Given the description of an element on the screen output the (x, y) to click on. 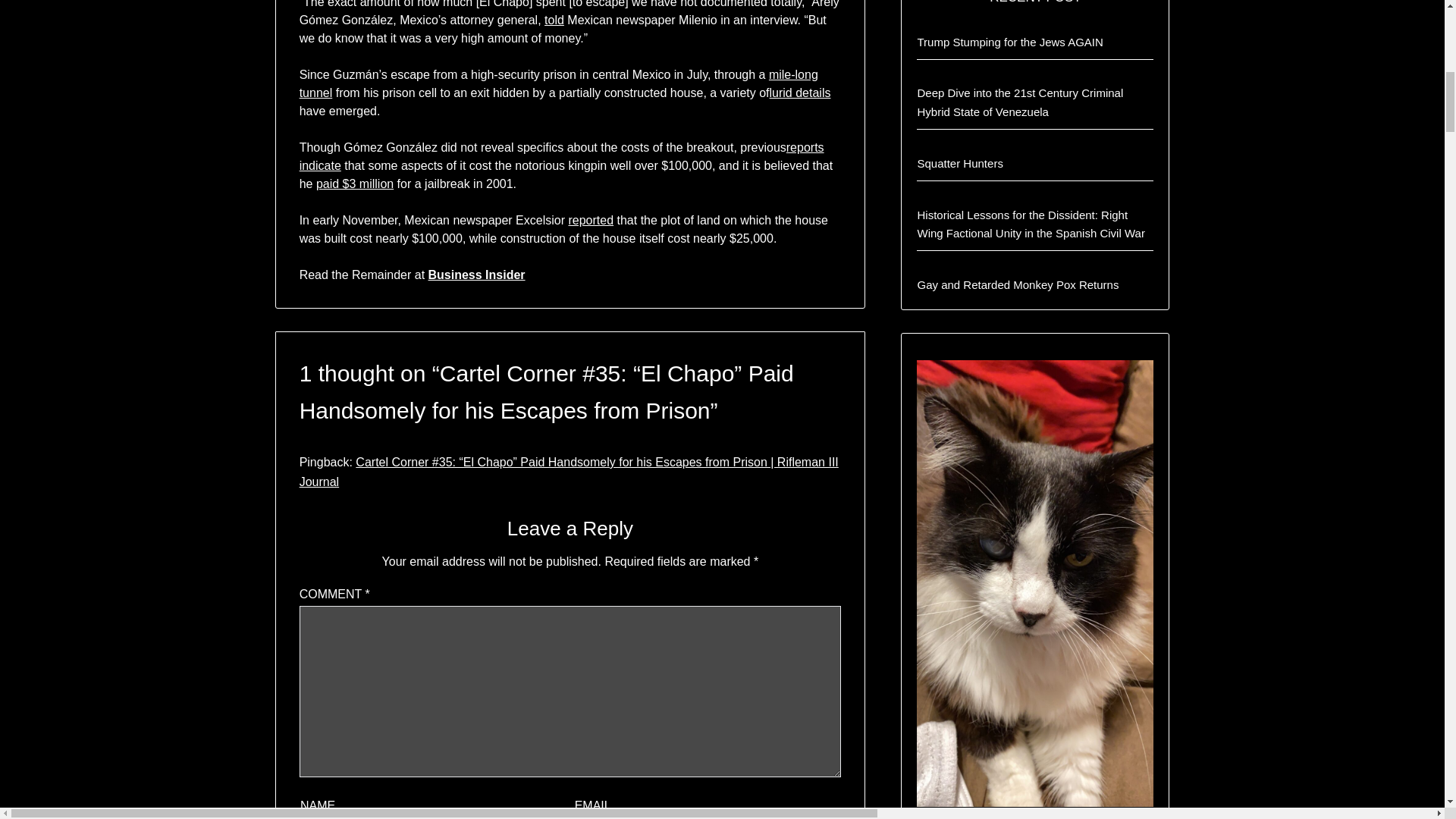
told (554, 19)
Trump Stumping for the Jews AGAIN (1009, 42)
Business Insider (476, 274)
Gay and Retarded Monkey Pox Returns (1017, 284)
reported (589, 219)
Squatter Hunters (960, 163)
mile-long tunnel (558, 83)
reports indicate (561, 155)
lurid details (800, 92)
